Given the description of an element on the screen output the (x, y) to click on. 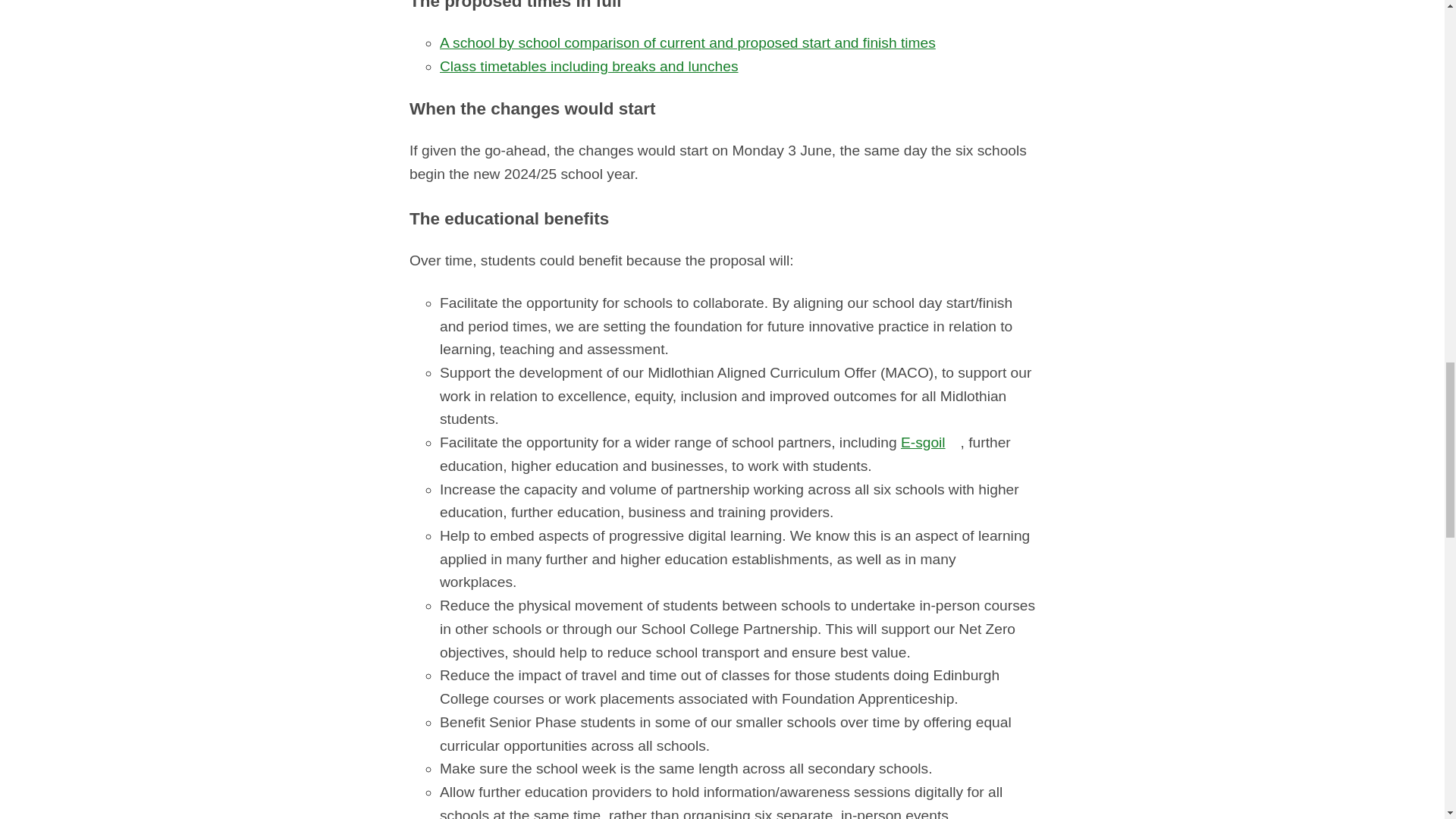
Class timetables including breaks and lunches (588, 66)
E-sgoil (930, 443)
